Given the description of an element on the screen output the (x, y) to click on. 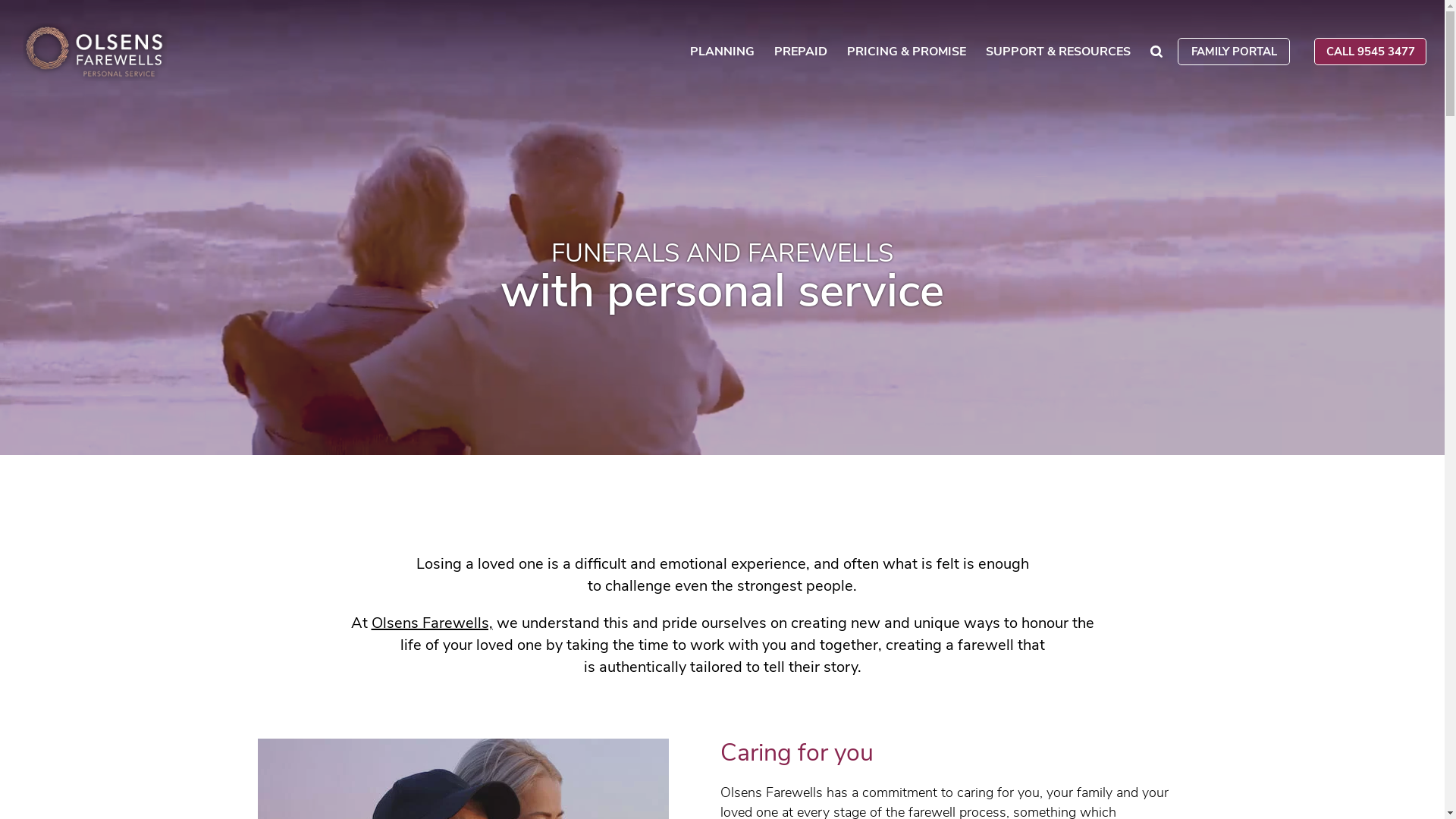
PLANNING Element type: text (722, 55)
SUPPORT & RESOURCES Element type: text (1057, 55)
PRICING & PROMISE Element type: text (906, 55)
FAMILY PORTAL Element type: text (1233, 51)
CALL 9545 3477 Element type: text (1370, 51)
PREPAID Element type: text (800, 55)
Olsens Farewells, Element type: text (431, 622)
